Given the description of an element on the screen output the (x, y) to click on. 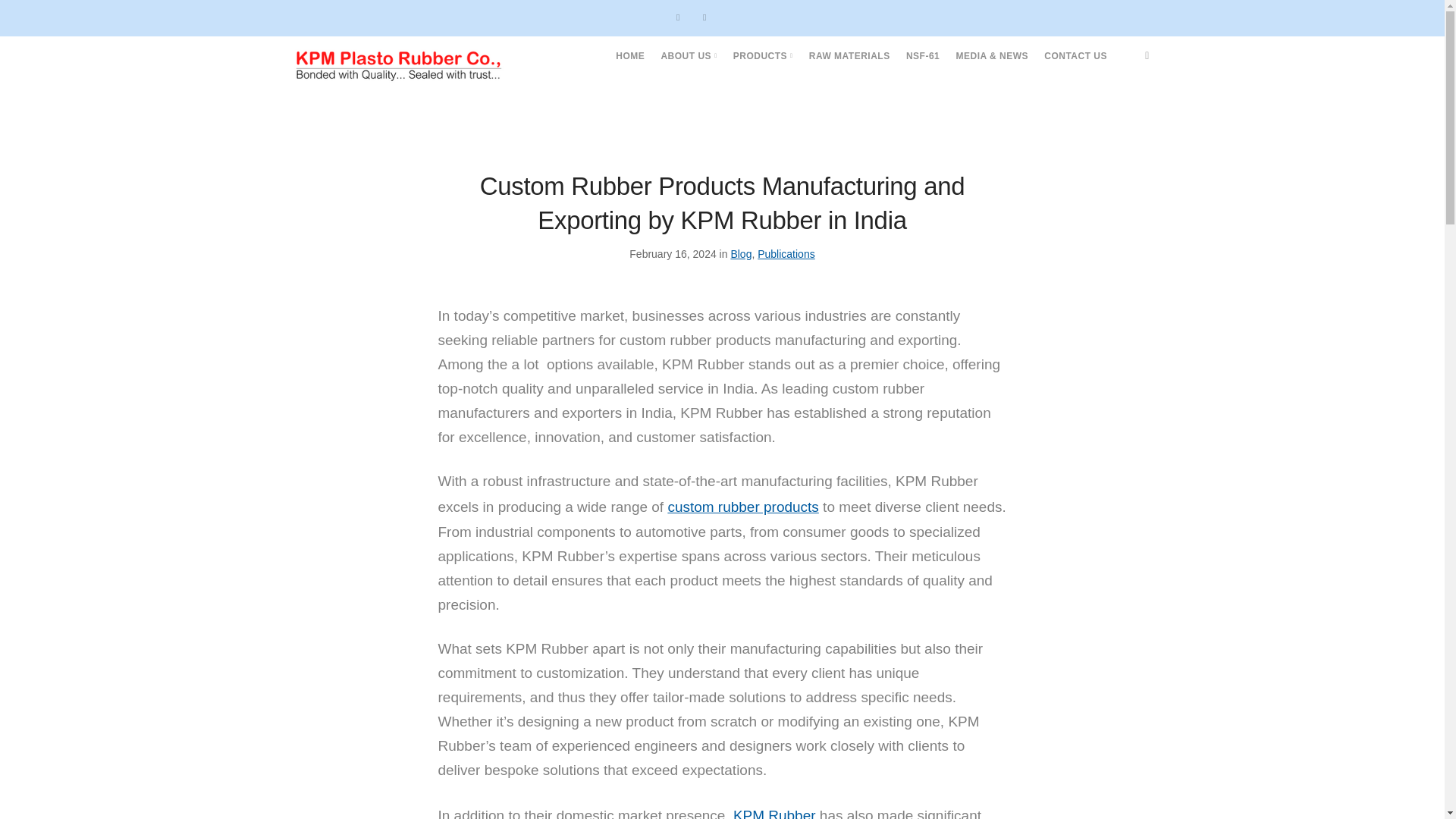
HOME (630, 55)
NSF-61 (922, 55)
RAW MATERIALS (849, 55)
